Given the description of an element on the screen output the (x, y) to click on. 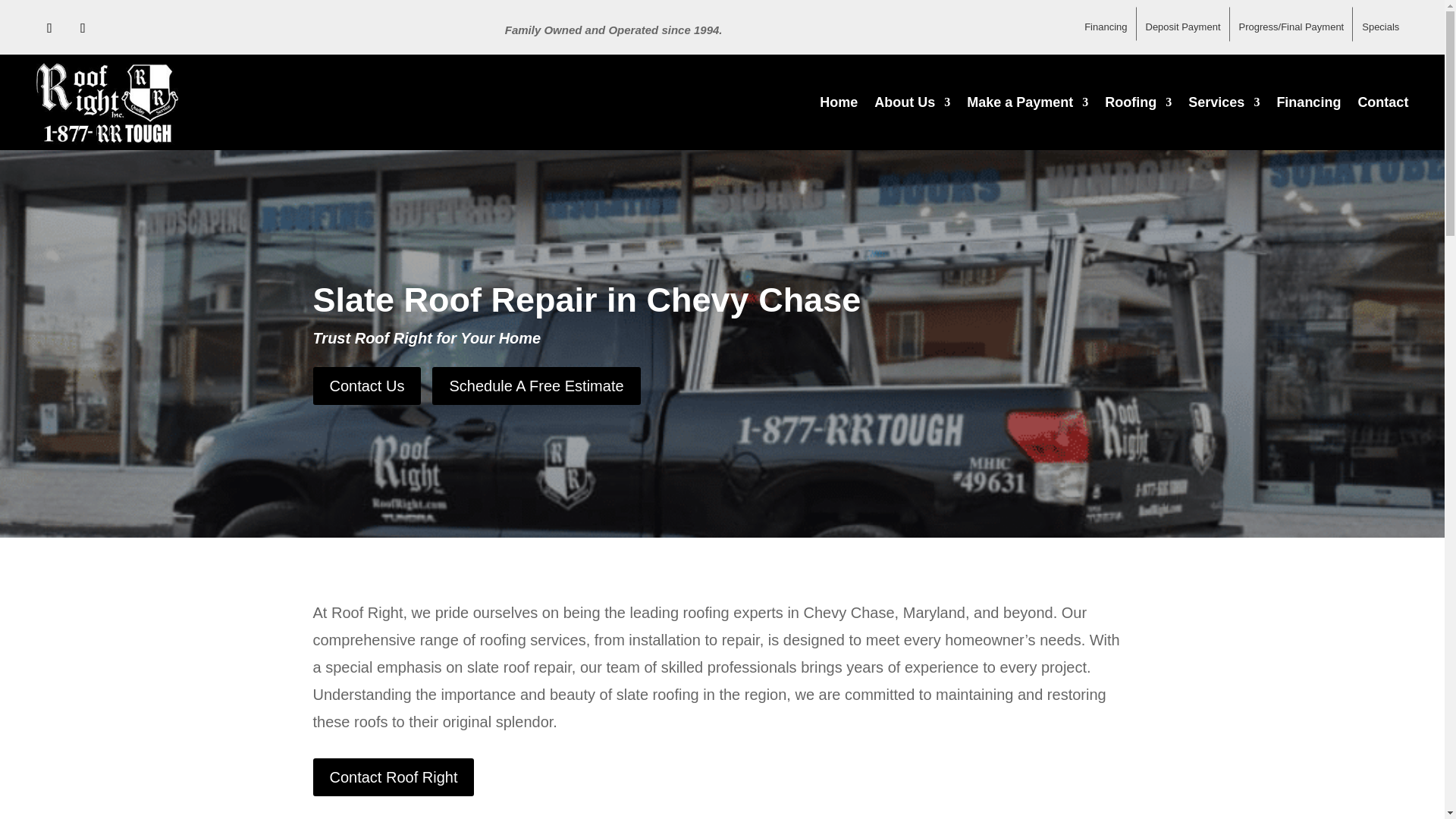
Financing (1105, 23)
Make a Payment (1026, 102)
Deposit Payment (1181, 23)
Specials (1379, 21)
Follow on Facebook (50, 27)
Follow on Instagram (83, 27)
